Given the description of an element on the screen output the (x, y) to click on. 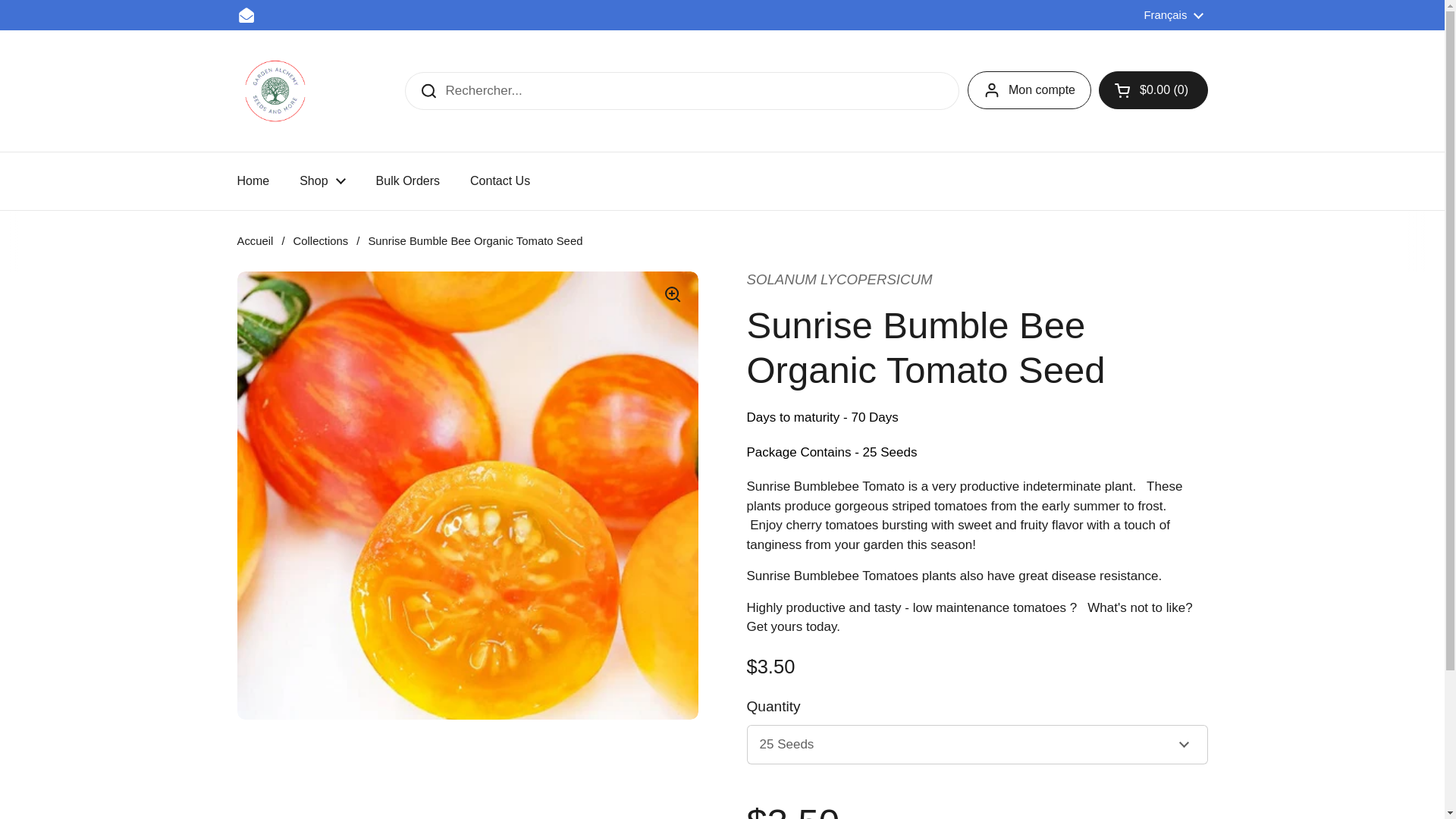
Home (252, 181)
Shop (321, 181)
Email (244, 14)
Ouvrir le panier (1153, 89)
Shop (321, 181)
Mon compte (1029, 89)
Home (252, 181)
Garden Alchemy Seeds and More (274, 90)
